Given the description of an element on the screen output the (x, y) to click on. 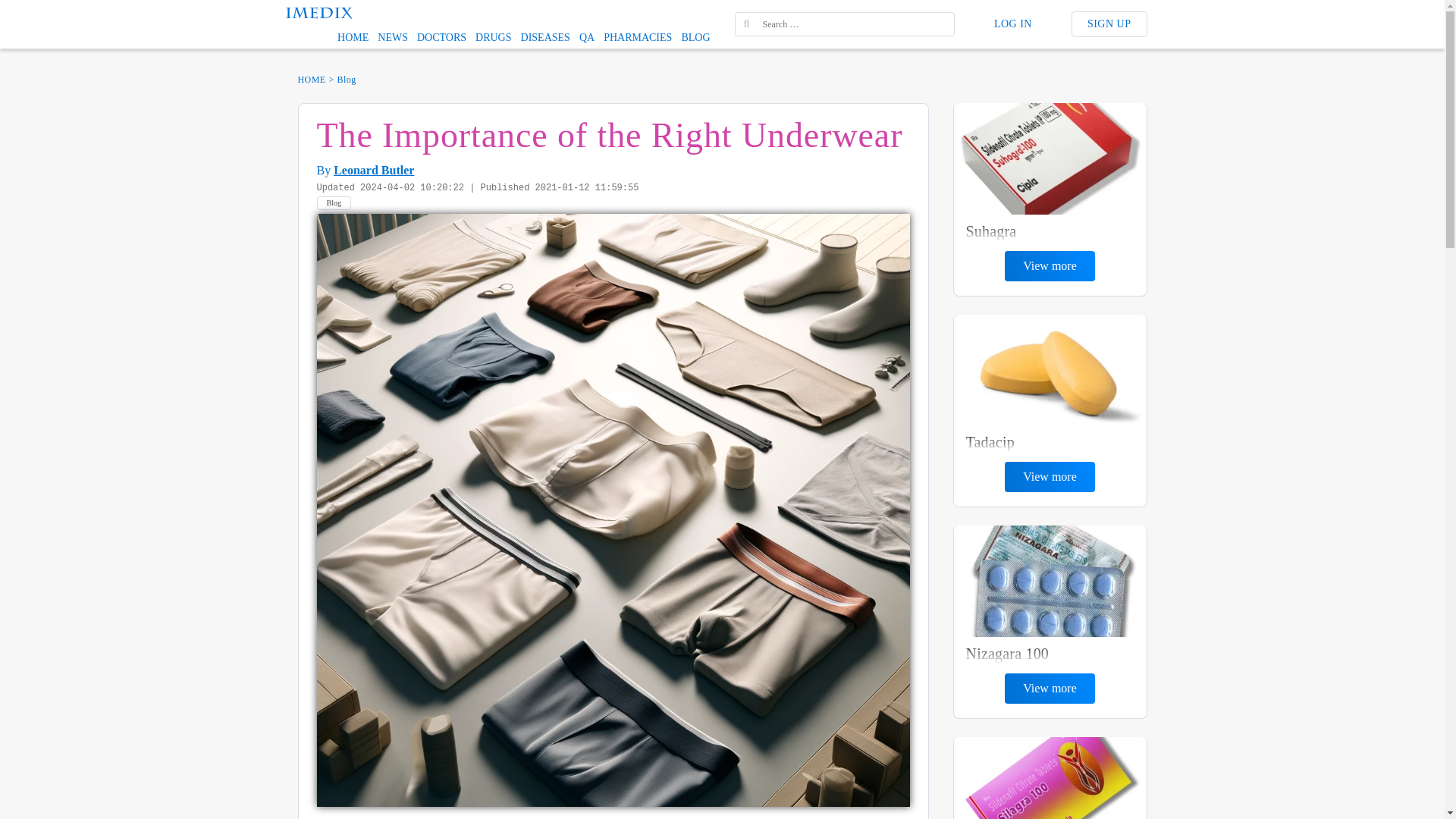
LOG IN (1012, 24)
PHARMACIES (637, 37)
Blog (346, 78)
BLOG (695, 37)
DRUGS (493, 37)
HOME (352, 37)
iMedix: Your Personal Health Advisor. (318, 10)
HOME (310, 78)
QA (586, 37)
NEWS (392, 37)
DISEASES (545, 37)
Search (22, 8)
DOCTORS (440, 37)
Blog (333, 202)
SIGN UP (1109, 23)
